Given the description of an element on the screen output the (x, y) to click on. 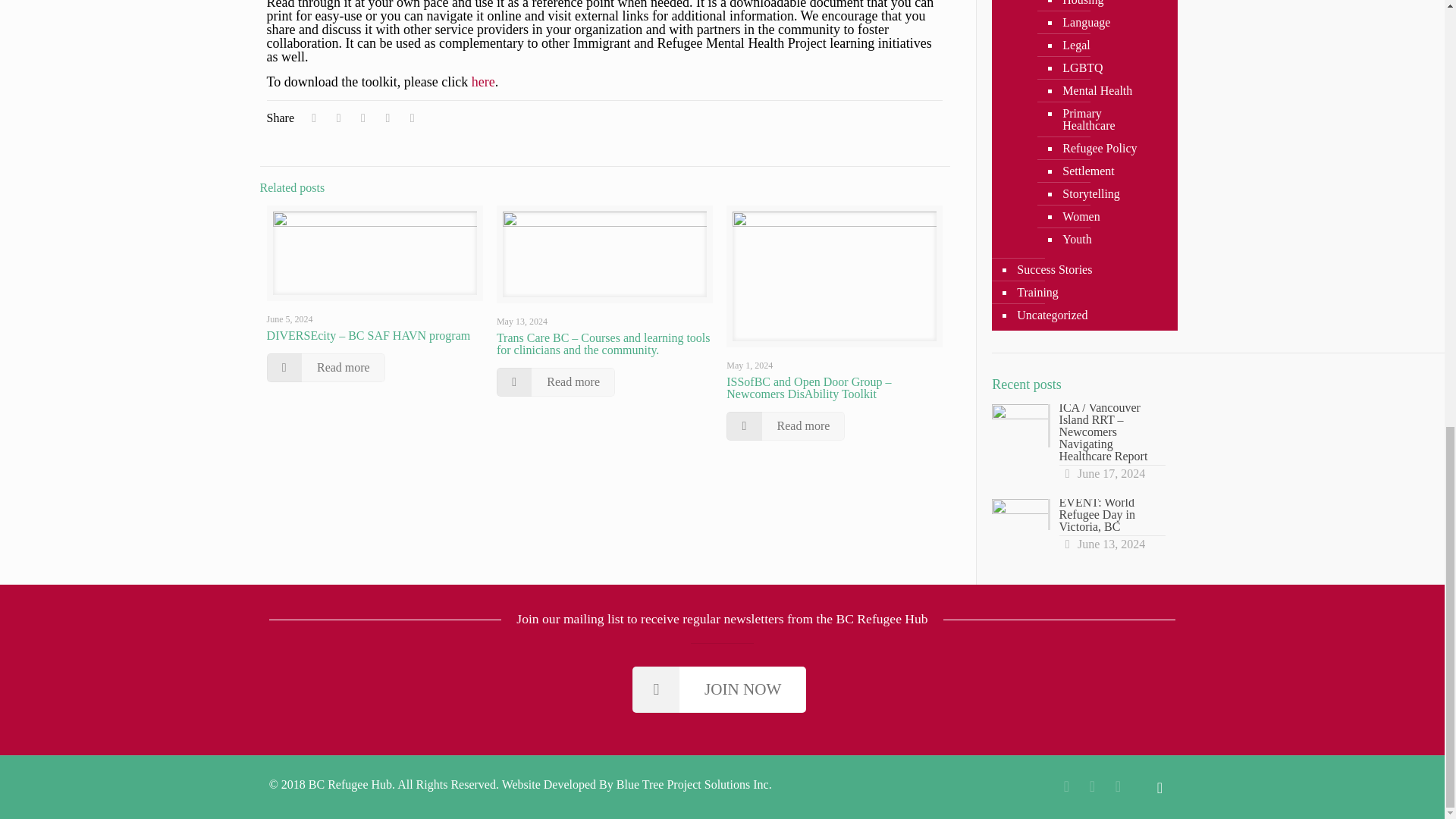
Facebook (1066, 786)
Instagram (1117, 786)
Twitter (1091, 786)
